Given the description of an element on the screen output the (x, y) to click on. 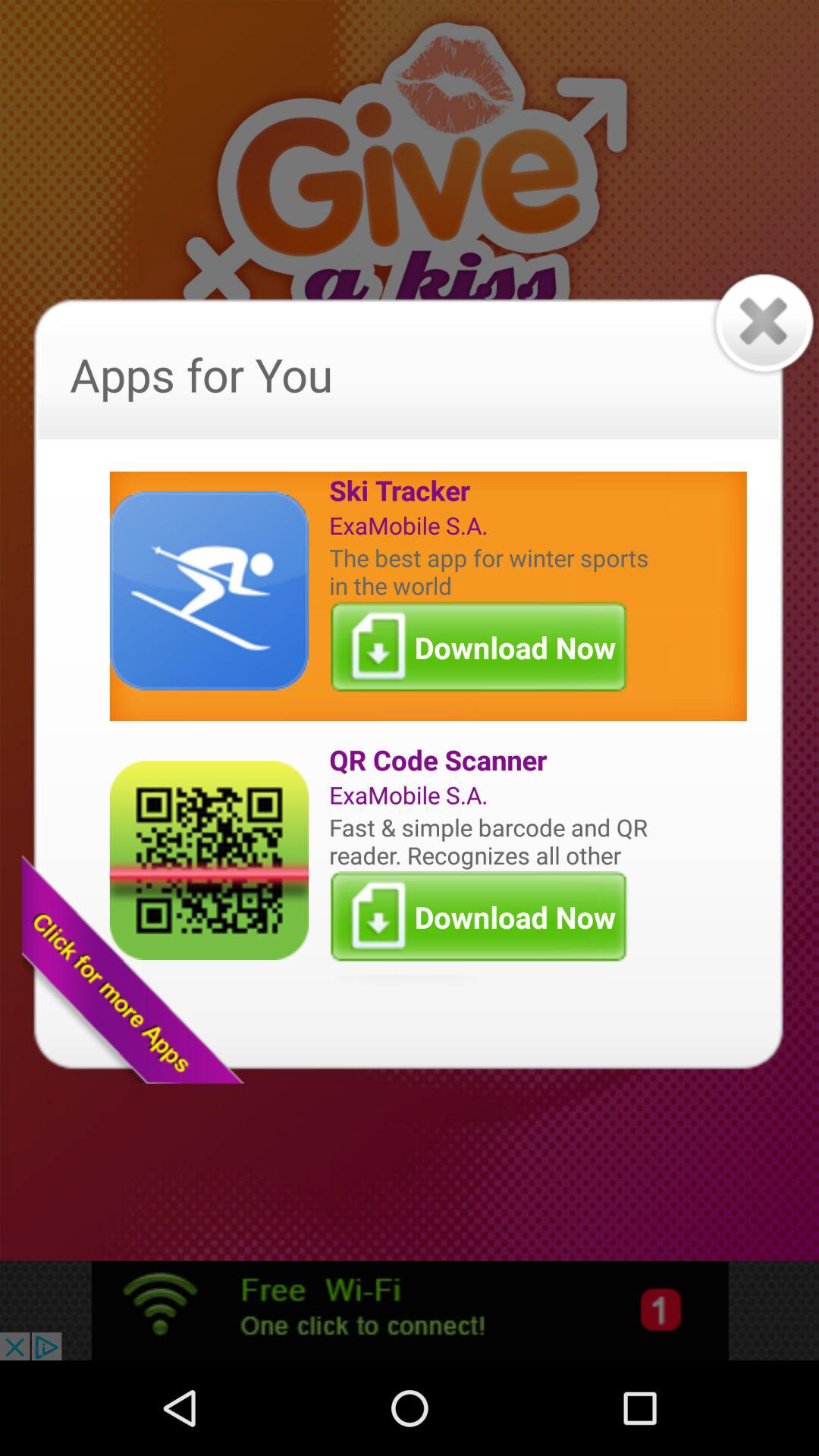
jump to qr code scanner item (492, 759)
